Given the description of an element on the screen output the (x, y) to click on. 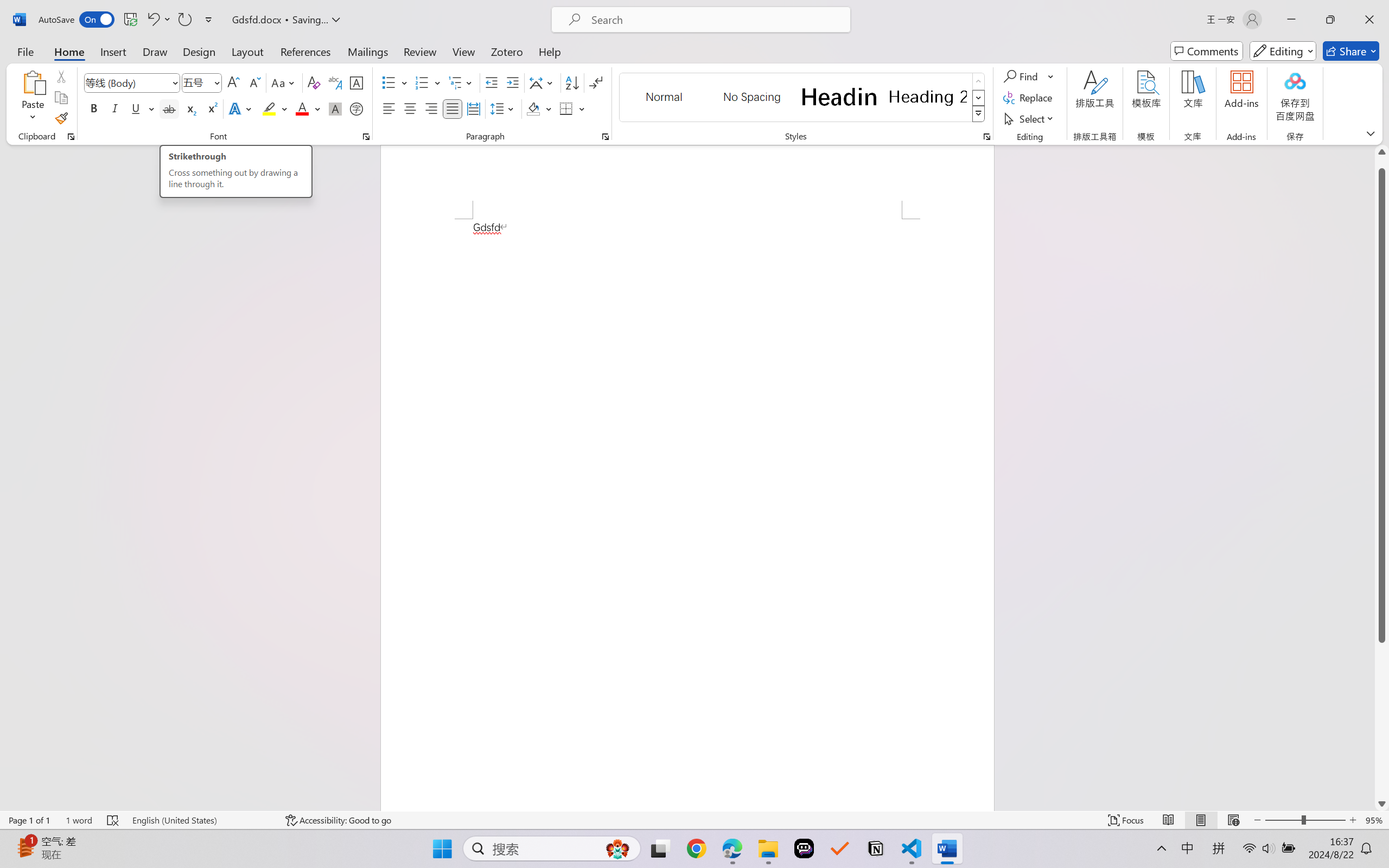
Cut (60, 75)
Subscript (190, 108)
Page 1 content (687, 514)
Can't Repeat (184, 19)
Styles... (986, 136)
Enclose Characters... (356, 108)
Asian Layout (542, 82)
Spelling and Grammar Check Errors (113, 819)
Superscript (210, 108)
Page up (1382, 163)
